Given the description of an element on the screen output the (x, y) to click on. 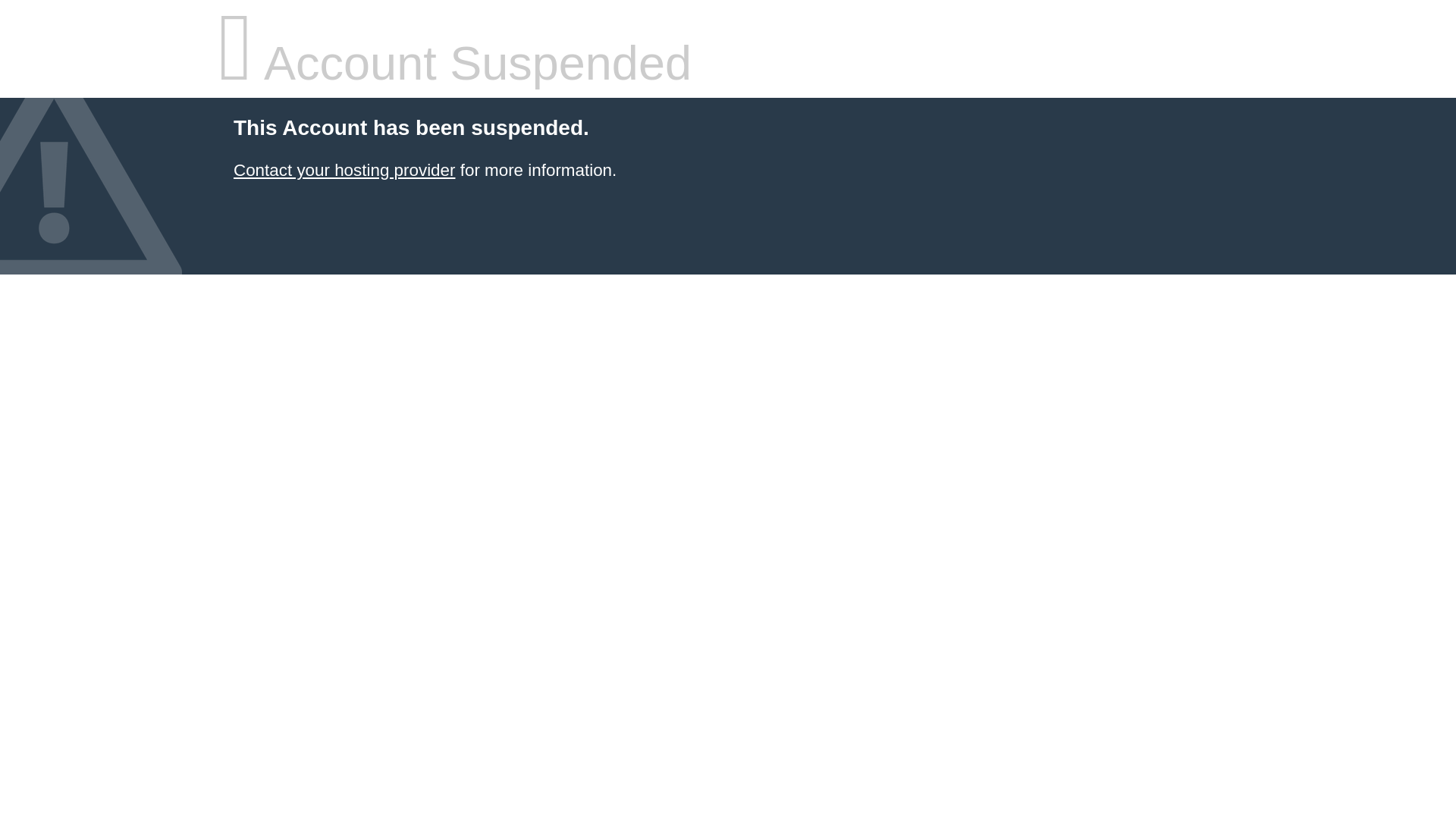
Contact your hosting provider (343, 169)
